Given the description of an element on the screen output the (x, y) to click on. 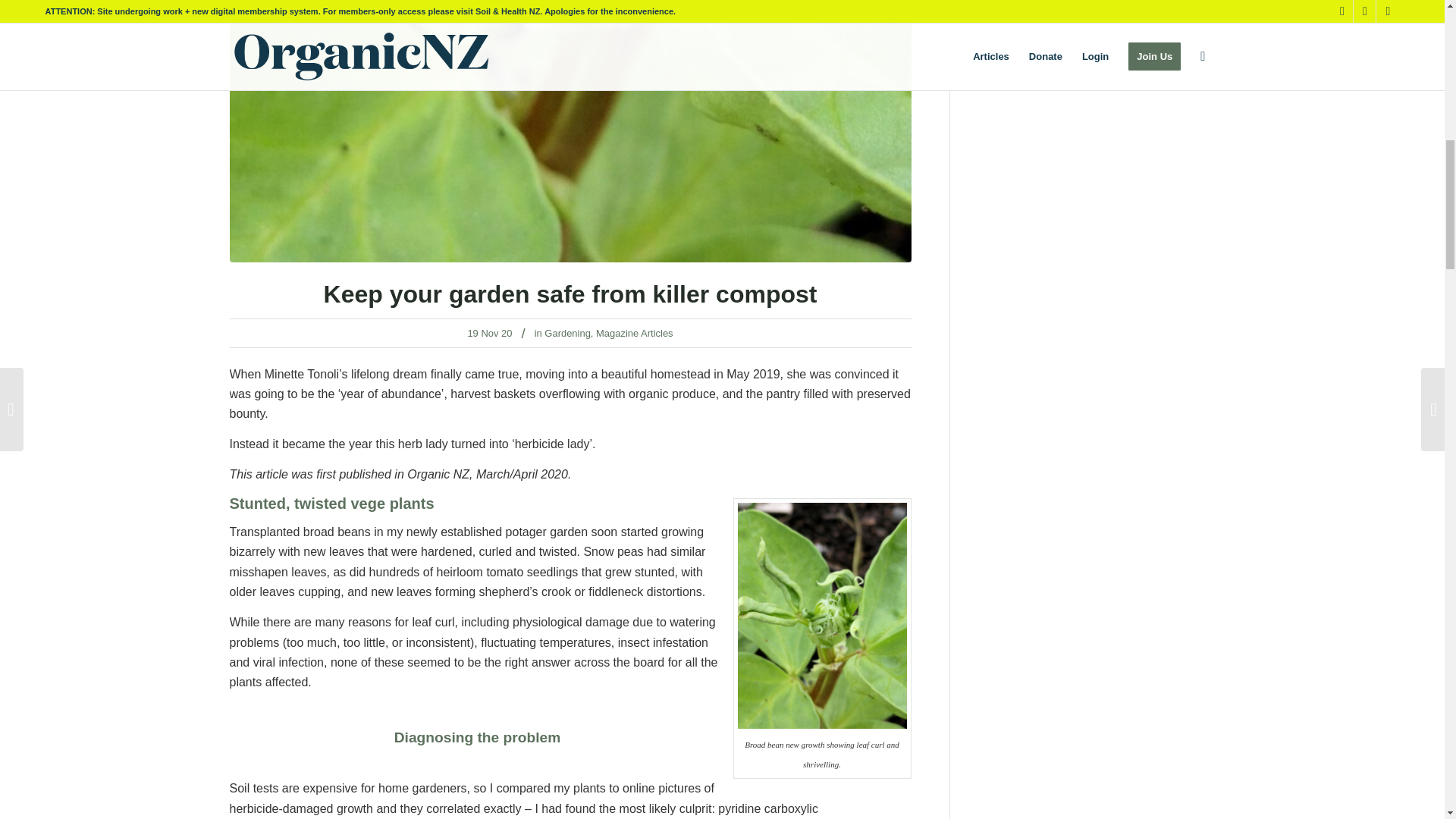
Gardening (567, 333)
Magazine Articles (633, 333)
